Given the description of an element on the screen output the (x, y) to click on. 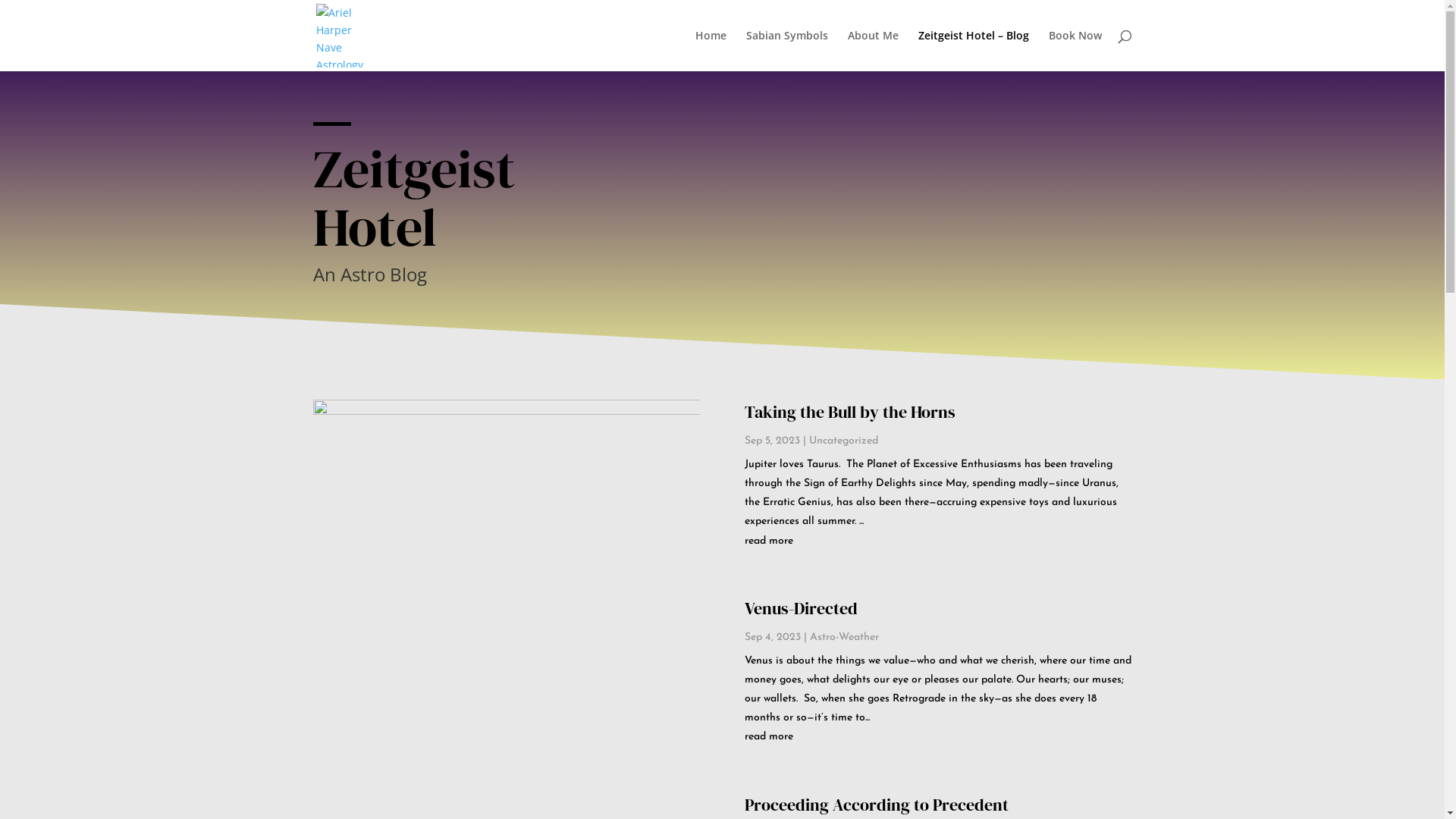
Uncategorized Element type: text (843, 440)
Venus-Directed Element type: text (800, 607)
Taking the Bull by the Horns Element type: text (849, 411)
Astro-Weather Element type: text (843, 637)
read more Element type: text (937, 540)
Book Now Element type: text (1074, 50)
Home Element type: text (709, 50)
Proceeding According to Precedent Element type: text (876, 804)
About Me Element type: text (872, 50)
read more Element type: text (937, 736)
Sabian Symbols Element type: text (787, 50)
